Given the description of an element on the screen output the (x, y) to click on. 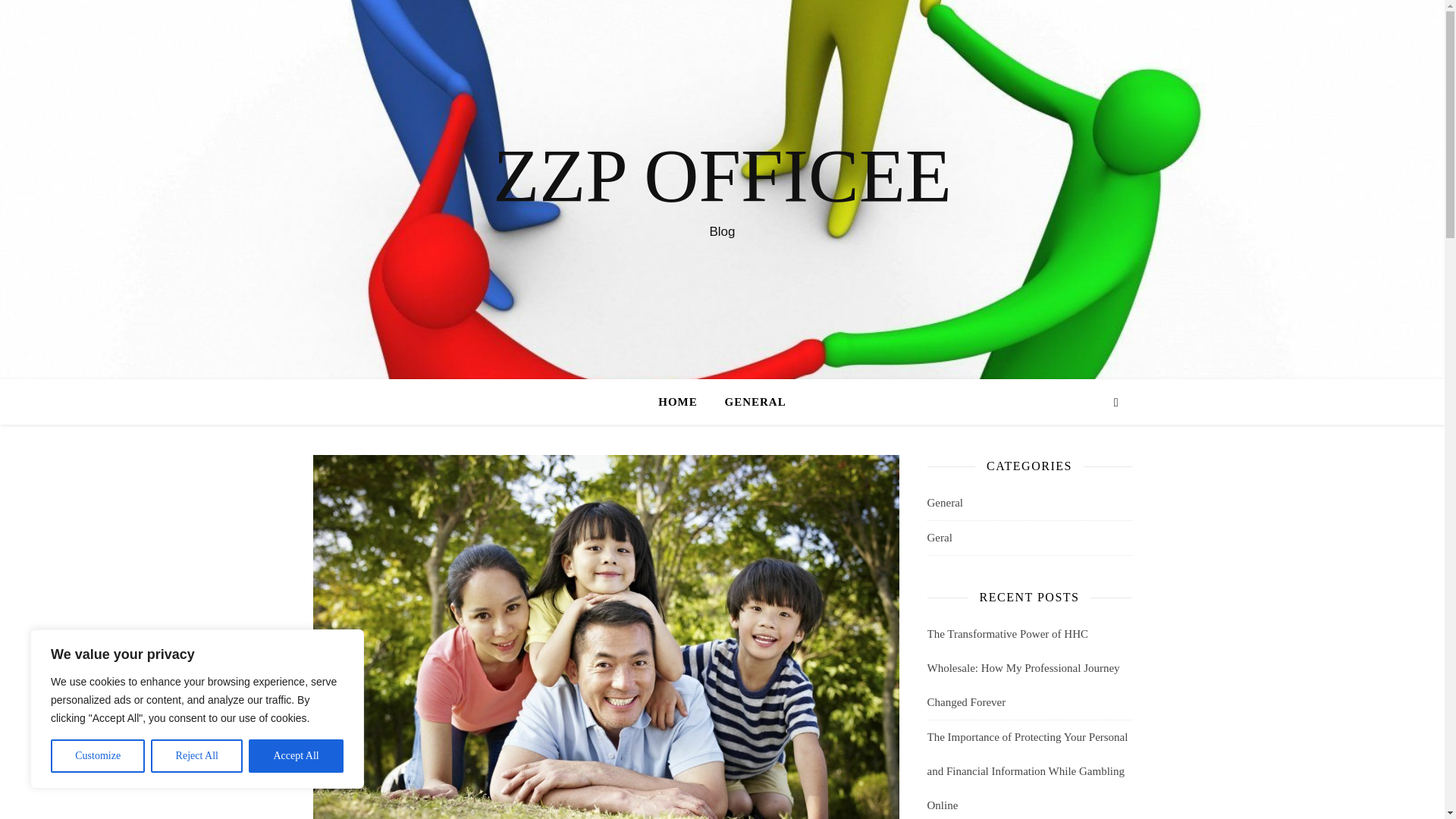
HOME (684, 402)
General (944, 503)
Customize (97, 756)
GENERAL (749, 402)
Reject All (197, 756)
Accept All (295, 756)
